Given the description of an element on the screen output the (x, y) to click on. 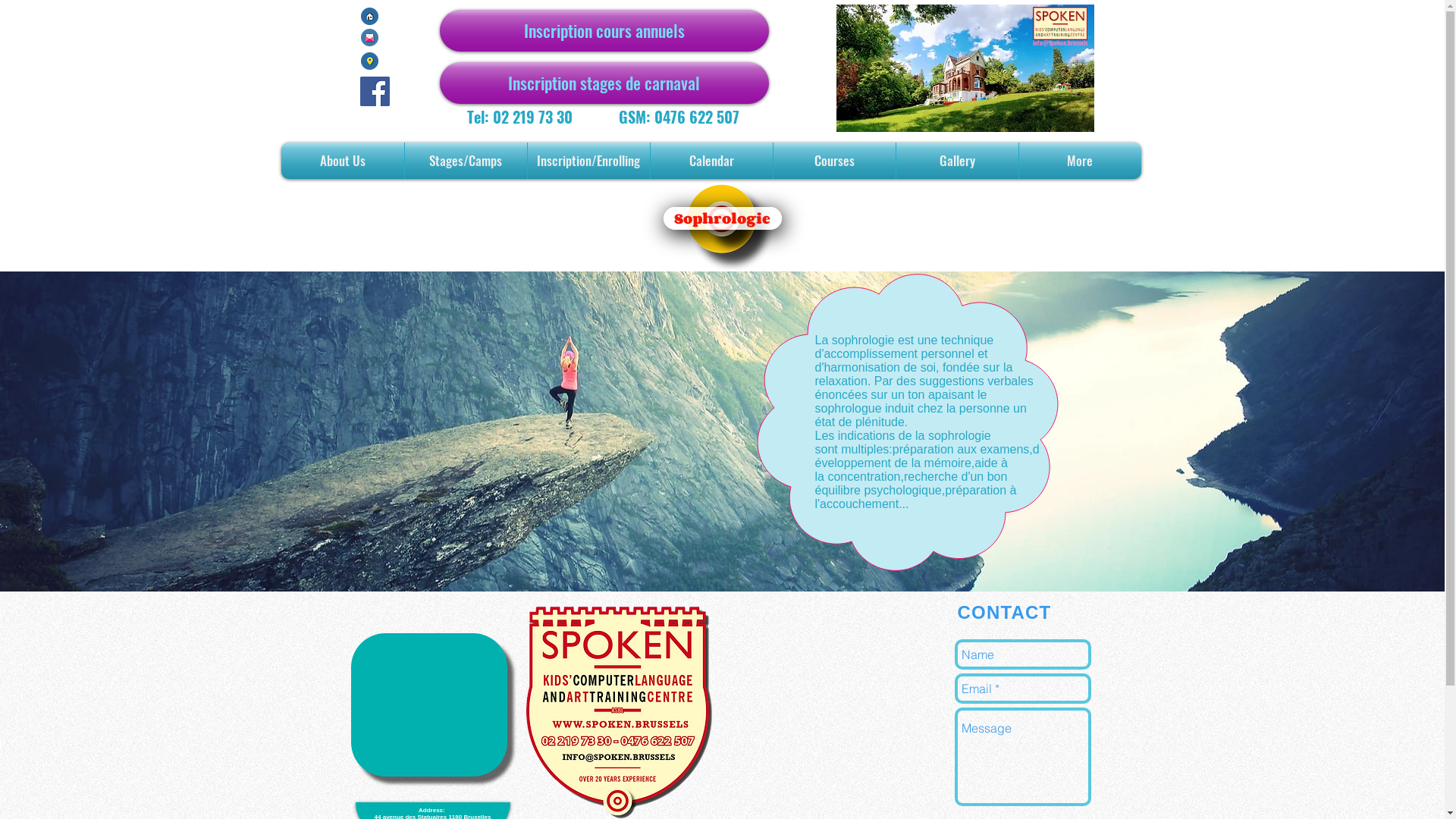
Inscription stages de carnaval Element type: text (603, 82)
info@spoken.brussels Element type: text (1060, 42)
About Us Element type: text (341, 160)
Inscription cours annuels Element type: text (603, 30)
Stages/Camps Element type: text (465, 160)
Google Maps Element type: hover (428, 704)
Inscription/Enrolling Element type: text (588, 160)
Calendar Element type: text (711, 160)
20190602_161845~5.jpg Element type: hover (964, 67)
Gallery Element type: text (957, 160)
